Given the description of an element on the screen output the (x, y) to click on. 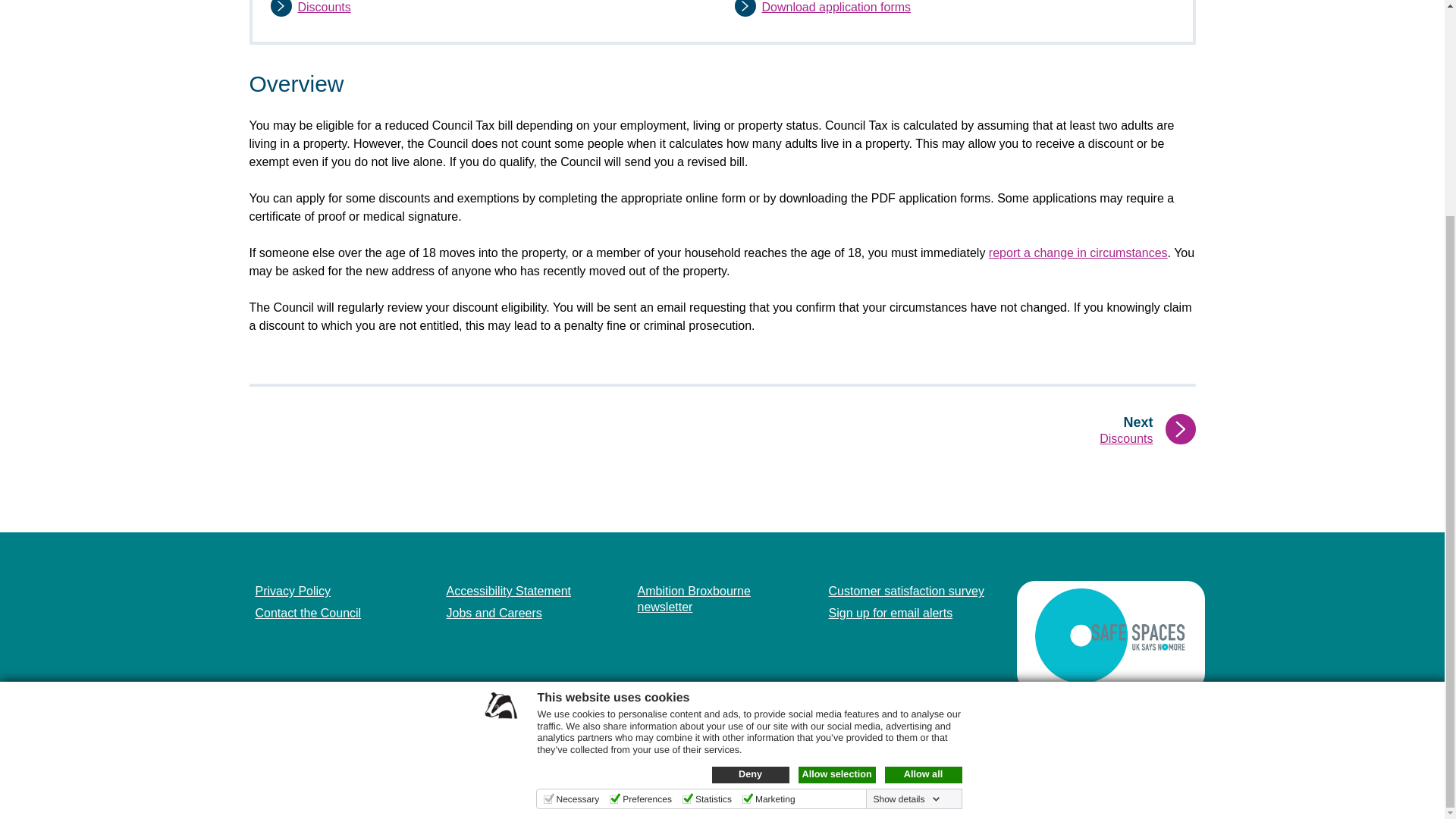
Allow selection (836, 492)
Allow all (921, 492)
Deny (750, 492)
Show details (905, 516)
